Given the description of an element on the screen output the (x, y) to click on. 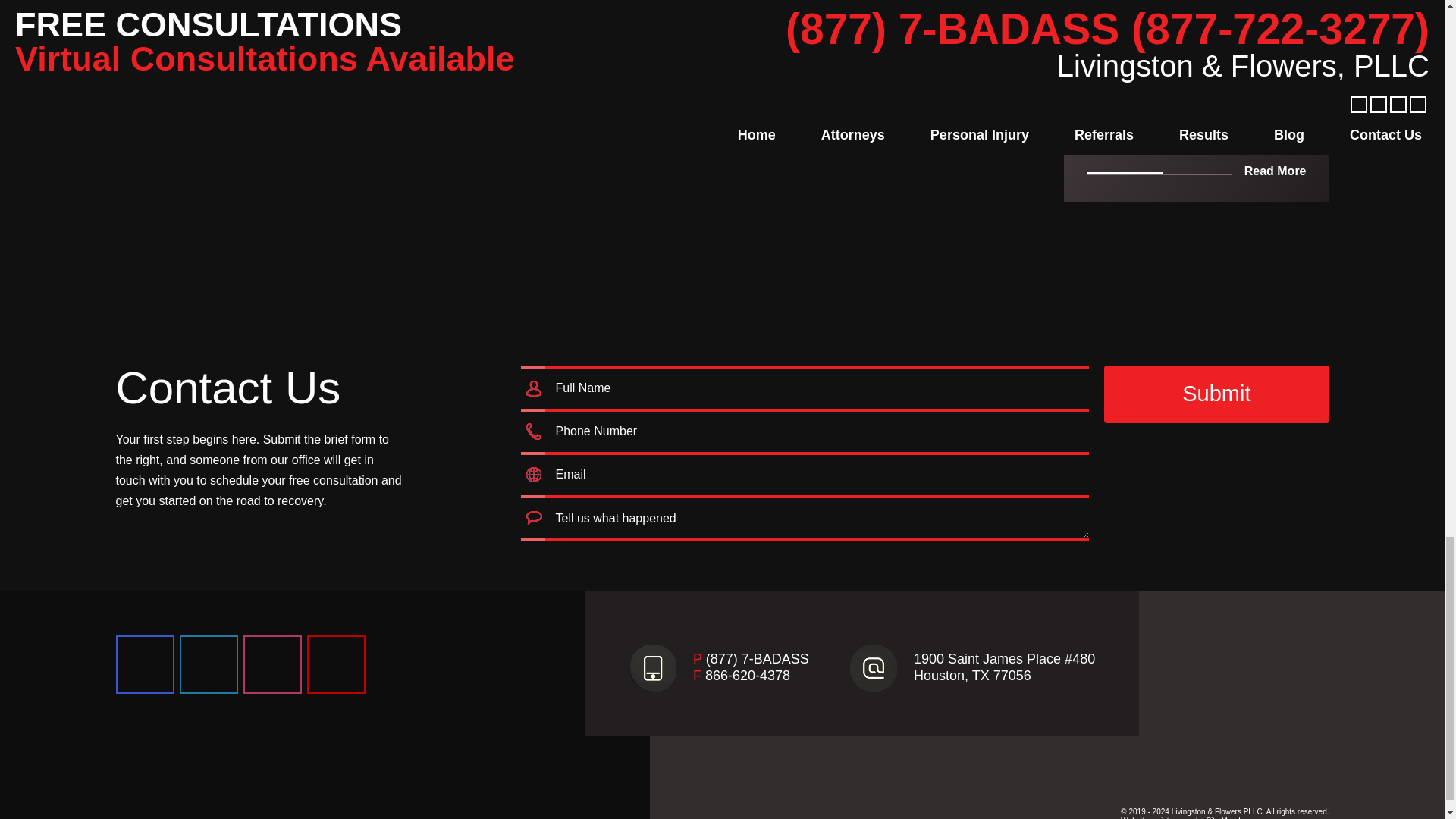
Submit (1215, 394)
